Given the description of an element on the screen output the (x, y) to click on. 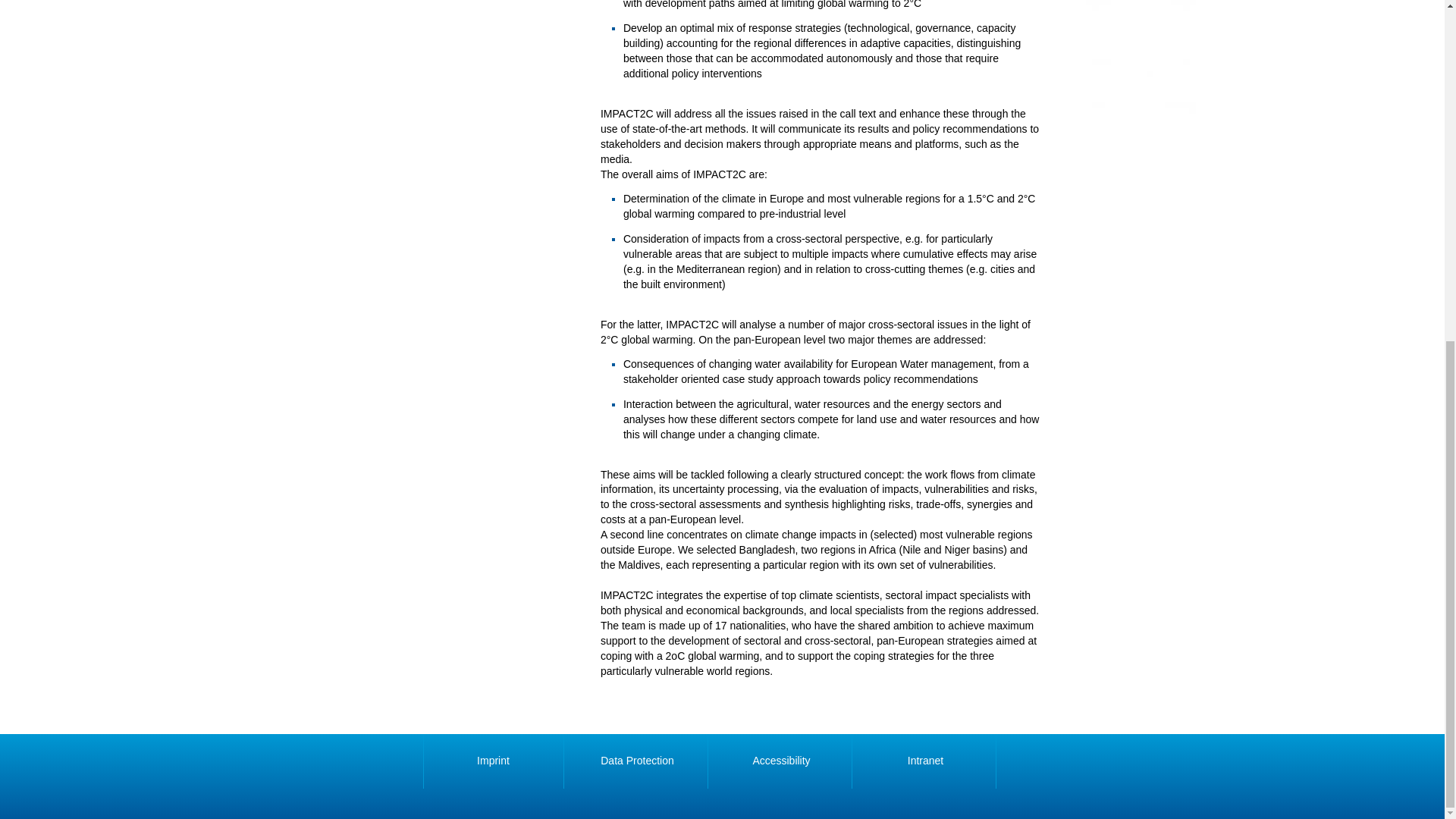
Data Protection (636, 760)
Accessibility (780, 760)
Imprint (492, 760)
Accessibility (780, 760)
Intranet (925, 760)
Intranet (925, 760)
Data Protection (636, 760)
Imprint (492, 760)
